Given the description of an element on the screen output the (x, y) to click on. 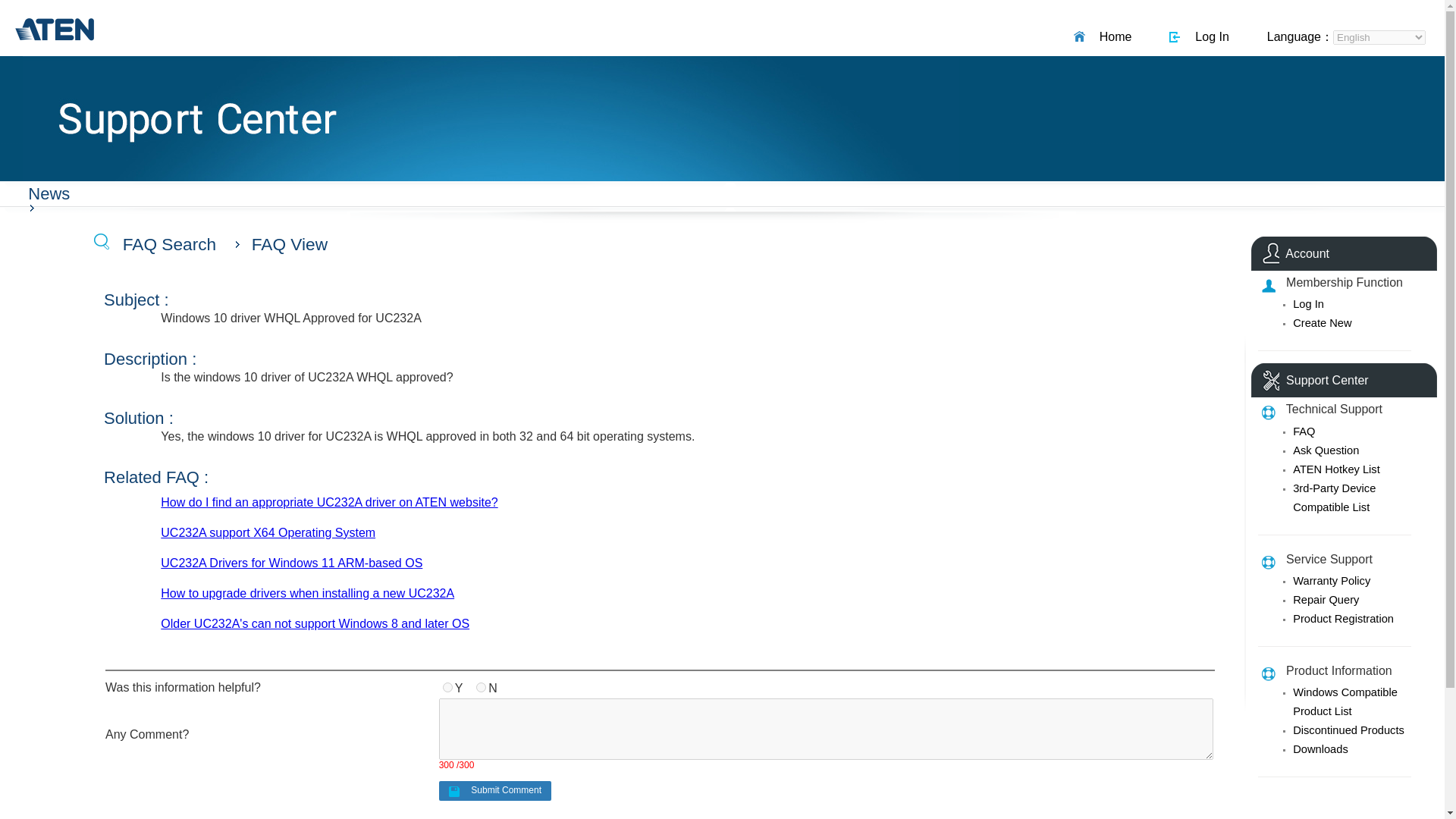
Discontinued Products (1348, 729)
Was this information helpful? (481, 687)
How to upgrade drivers when installing a new UC232A (307, 593)
Ask Question (1325, 450)
  Home (1112, 36)
Warranty Policy (1331, 580)
Product Registration (1342, 618)
Create New (1321, 322)
 Submit Comment (495, 790)
1 (447, 687)
